Given the description of an element on the screen output the (x, y) to click on. 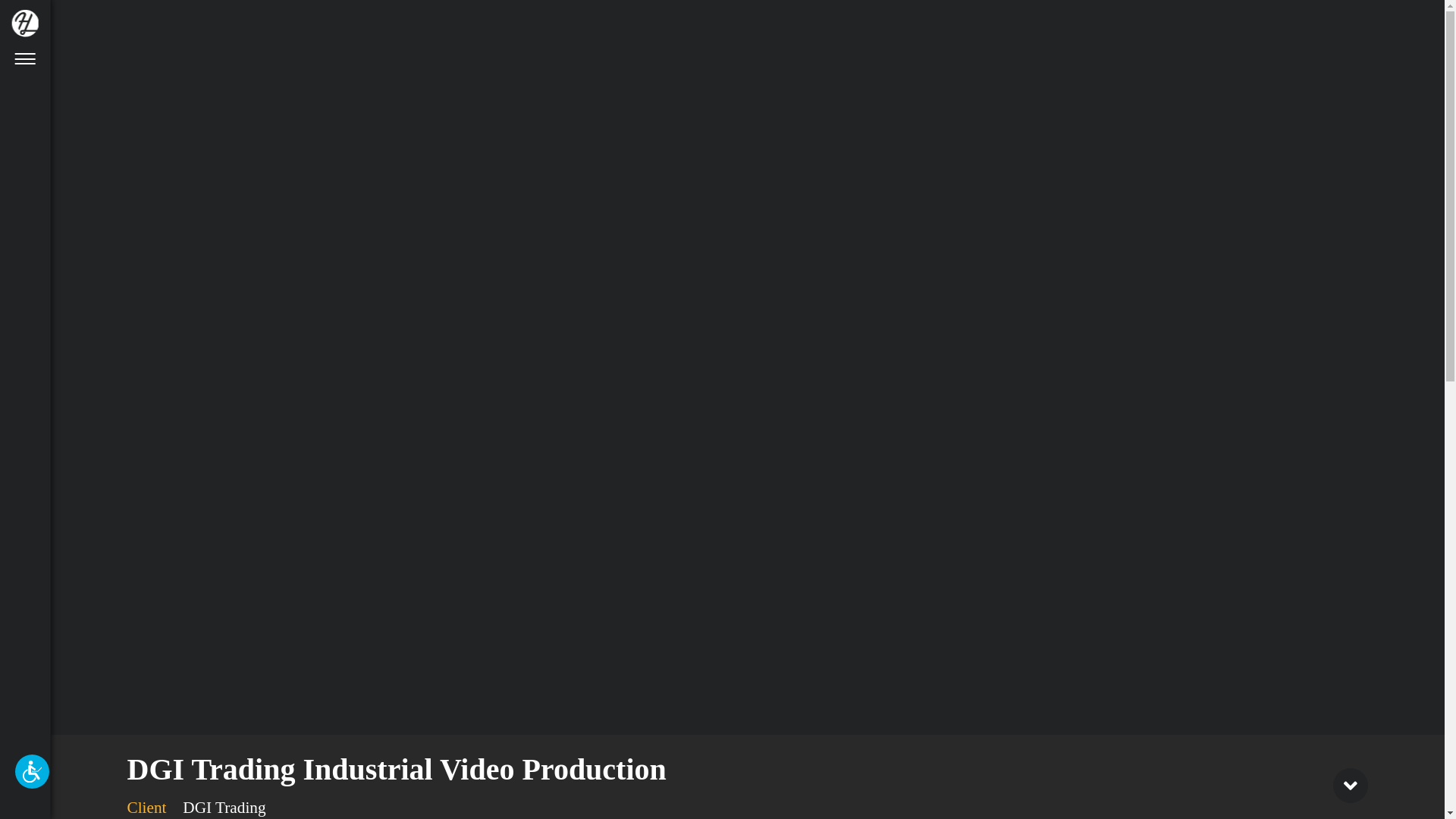
Homepage (25, 22)
